Given the description of an element on the screen output the (x, y) to click on. 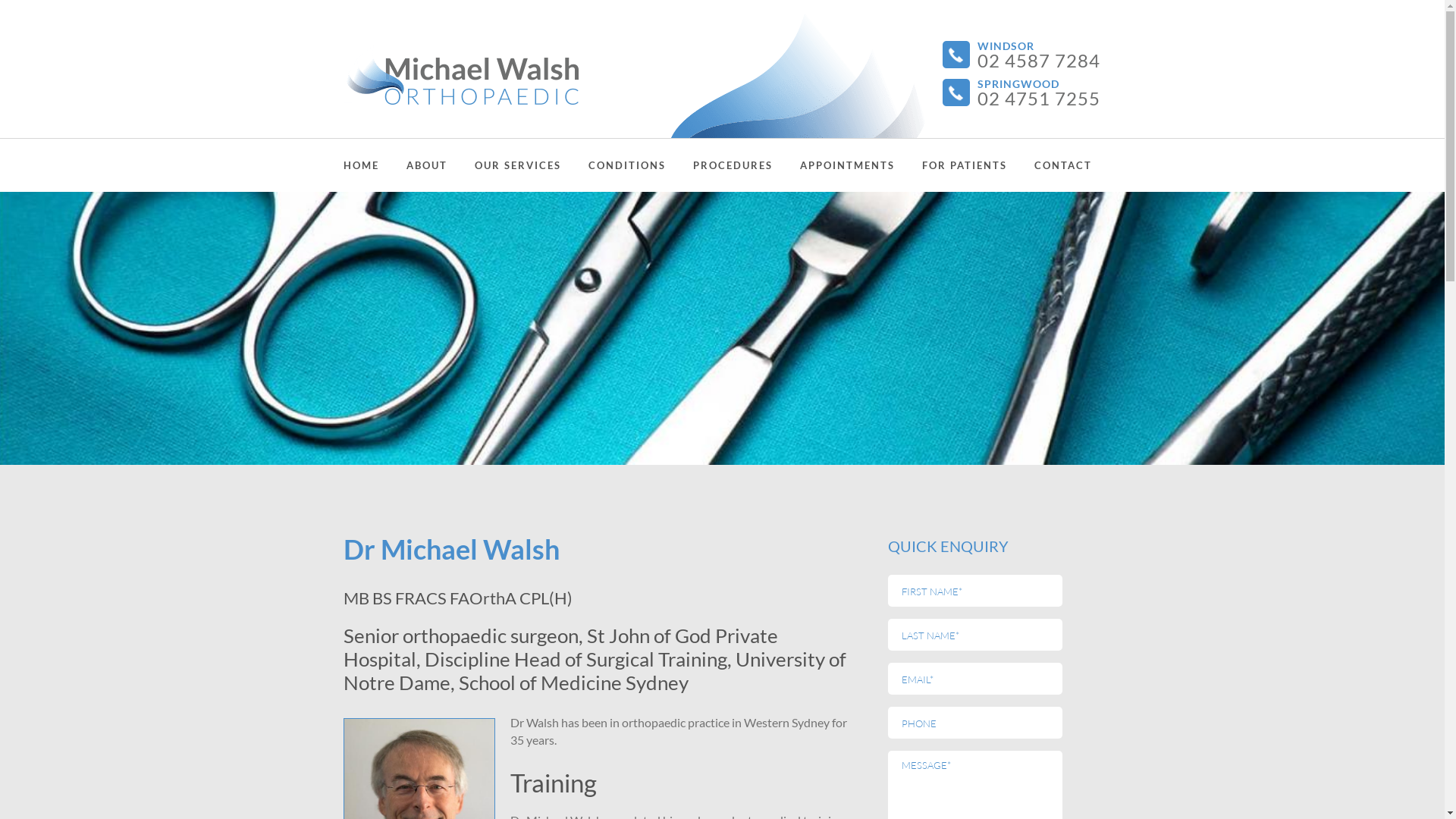
SUBSPECIALTY OPERATIONS Element type: text (781, 462)
FEES AND PAYMENT Element type: text (887, 244)
SPRINGWOOD
02 4751 7255 Element type: text (1037, 92)
WINDSOR
02 4587 7284 Element type: text (1037, 54)
OUR PRACTICE Element type: text (494, 208)
ANKLE Element type: text (676, 279)
FOOT Element type: text (676, 315)
Michael Walsh Orthopaedic Home Element type: hover (459, 73)
OUR SERVICES Element type: text (517, 165)
HAND AND WRIST Element type: text (676, 421)
KNEE Element type: text (781, 244)
ABOUT Element type: text (426, 165)
FOR PATIENTS Element type: text (964, 165)
HIP Element type: text (676, 208)
FOOT Element type: text (781, 315)
ANKLE Element type: text (781, 279)
CONTACT Element type: text (1063, 165)
CONTACT US Element type: text (989, 208)
HIP Element type: text (781, 208)
HOME Element type: text (360, 165)
APPOINTMENT REQUEST Element type: text (887, 279)
KNEE Element type: text (676, 244)
ELBOW Element type: text (676, 385)
APPOINTMENTS Element type: text (846, 165)
ELBOW Element type: text (781, 385)
YOUR VISIT Element type: text (887, 208)
WINDSOR Element type: text (494, 279)
LOCATIONS Element type: text (989, 244)
HAND AND WRIST Element type: text (781, 421)
PROCEDURES Element type: text (732, 165)
SHOULDER Element type: text (781, 349)
Skip to main content Element type: text (53, 0)
SHOULDER Element type: text (676, 349)
CONSULTING Element type: text (563, 208)
CONDITIONS Element type: text (626, 165)
GLOSSARY OF TERMS Element type: text (1010, 244)
OUR TEAM Element type: text (494, 244)
OPERATING Element type: text (563, 244)
FAQ Element type: text (1010, 208)
SPRINGWOOD Element type: text (494, 315)
Michael Walsh Orthopaedic Home Element type: hover (500, 73)
